Given the description of an element on the screen output the (x, y) to click on. 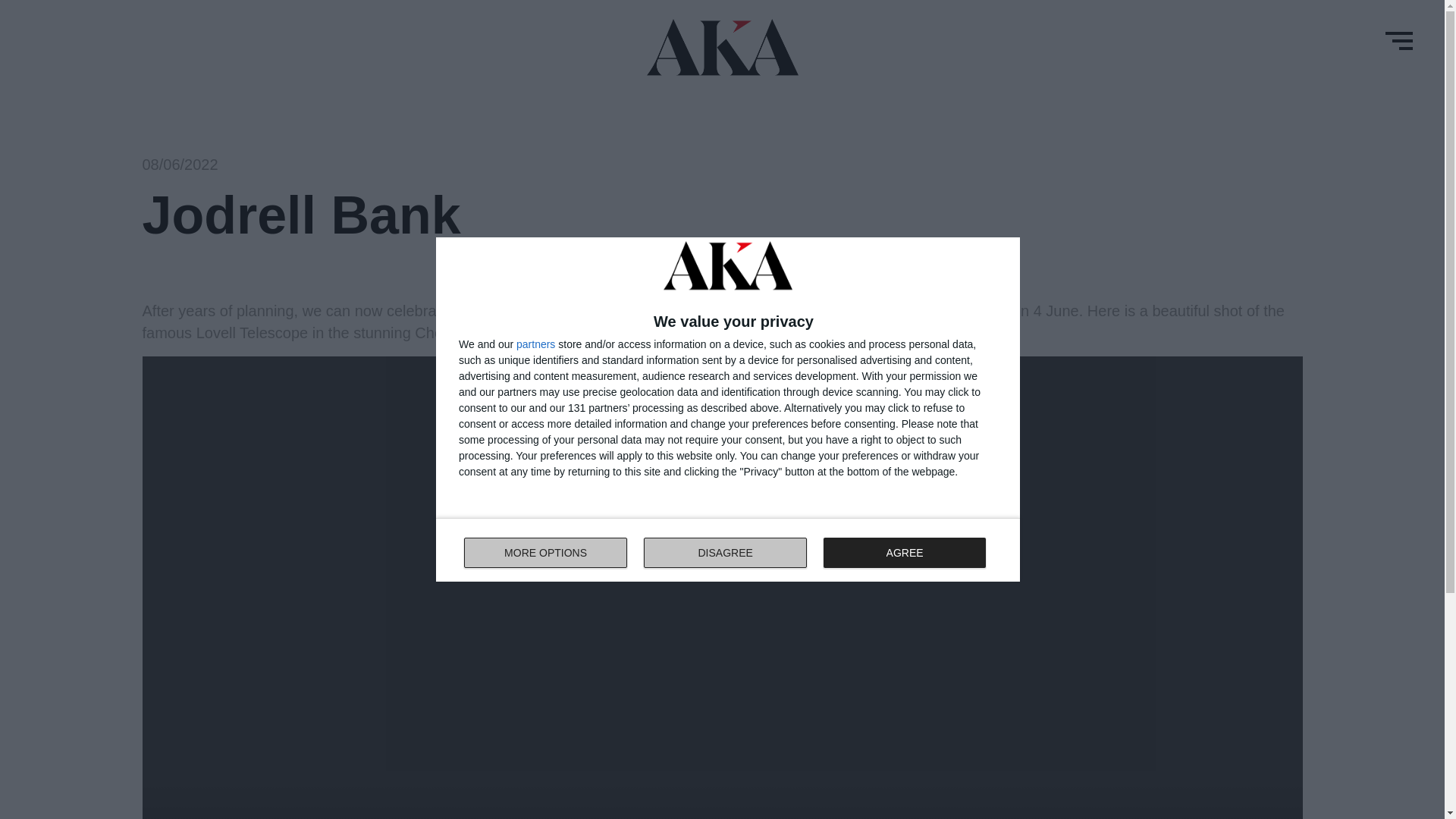
partners (535, 344)
AGREE (904, 552)
DISAGREE (724, 552)
MORE OPTIONS (727, 549)
First Light Pavilion (545, 552)
